Given the description of an element on the screen output the (x, y) to click on. 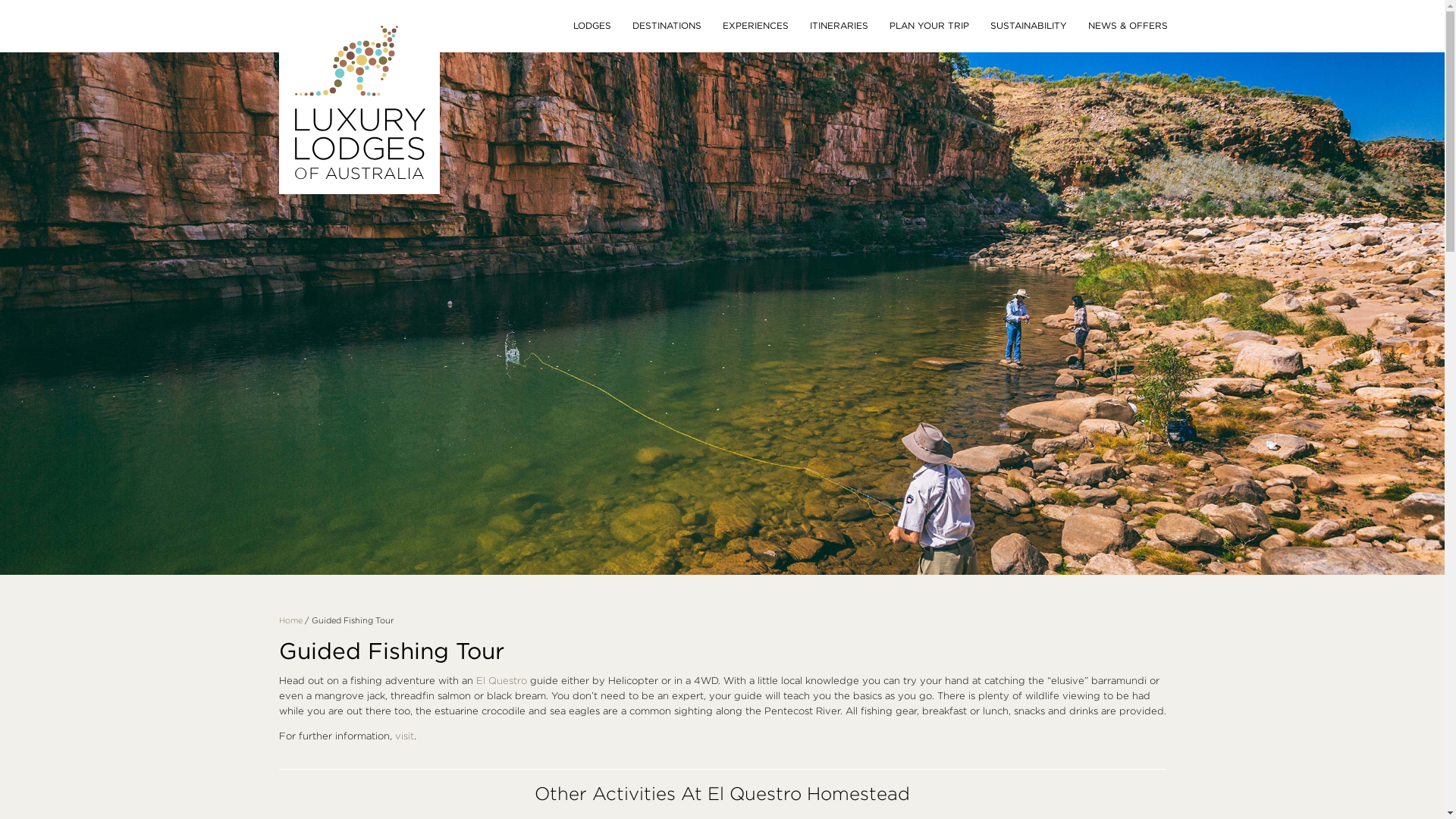
El Questro Element type: text (501, 680)
EXPERIENCES Element type: text (754, 26)
SUSTAINABILITY Element type: text (1028, 26)
NEWS & OFFERS Element type: text (1126, 26)
ITINERARIES Element type: text (838, 26)
Home Element type: text (290, 620)
PLAN YOUR TRIP Element type: text (928, 26)
LODGES Element type: text (591, 26)
Luxury Lodges of Australia Element type: hover (359, 215)
visit Element type: text (403, 735)
DESTINATIONS Element type: text (666, 26)
